Given the description of an element on the screen output the (x, y) to click on. 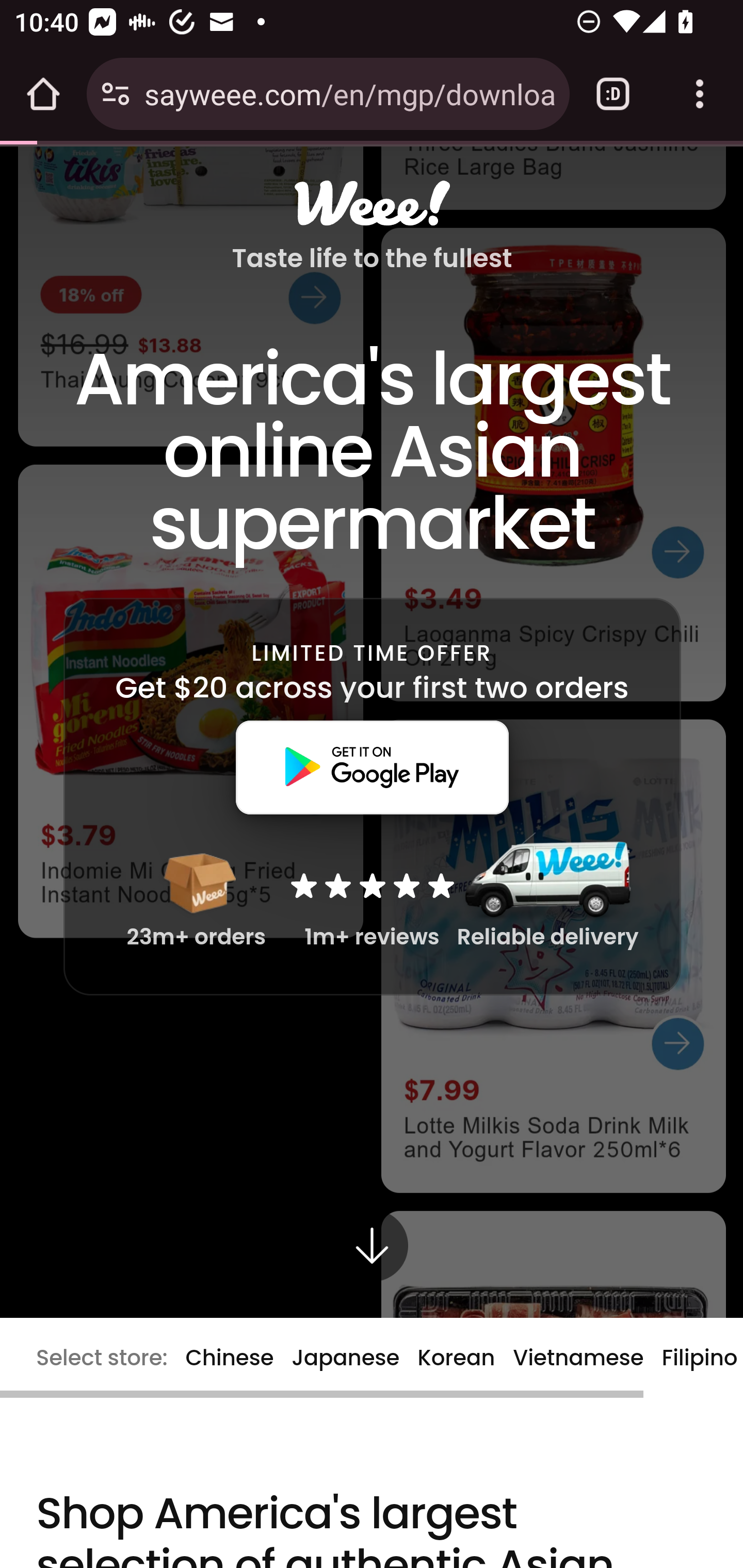
Open the home page (43, 93)
Connection is secure (115, 93)
Switch or close tabs (612, 93)
Customize and control Google Chrome (699, 93)
www.sayweee (371, 203)
details?id=com.sayweee (371, 766)
en (371, 1262)
Chinese (229, 1356)
Japanese (345, 1356)
Korean (456, 1356)
Vietnamese (578, 1356)
Filipino (699, 1356)
